Given the description of an element on the screen output the (x, y) to click on. 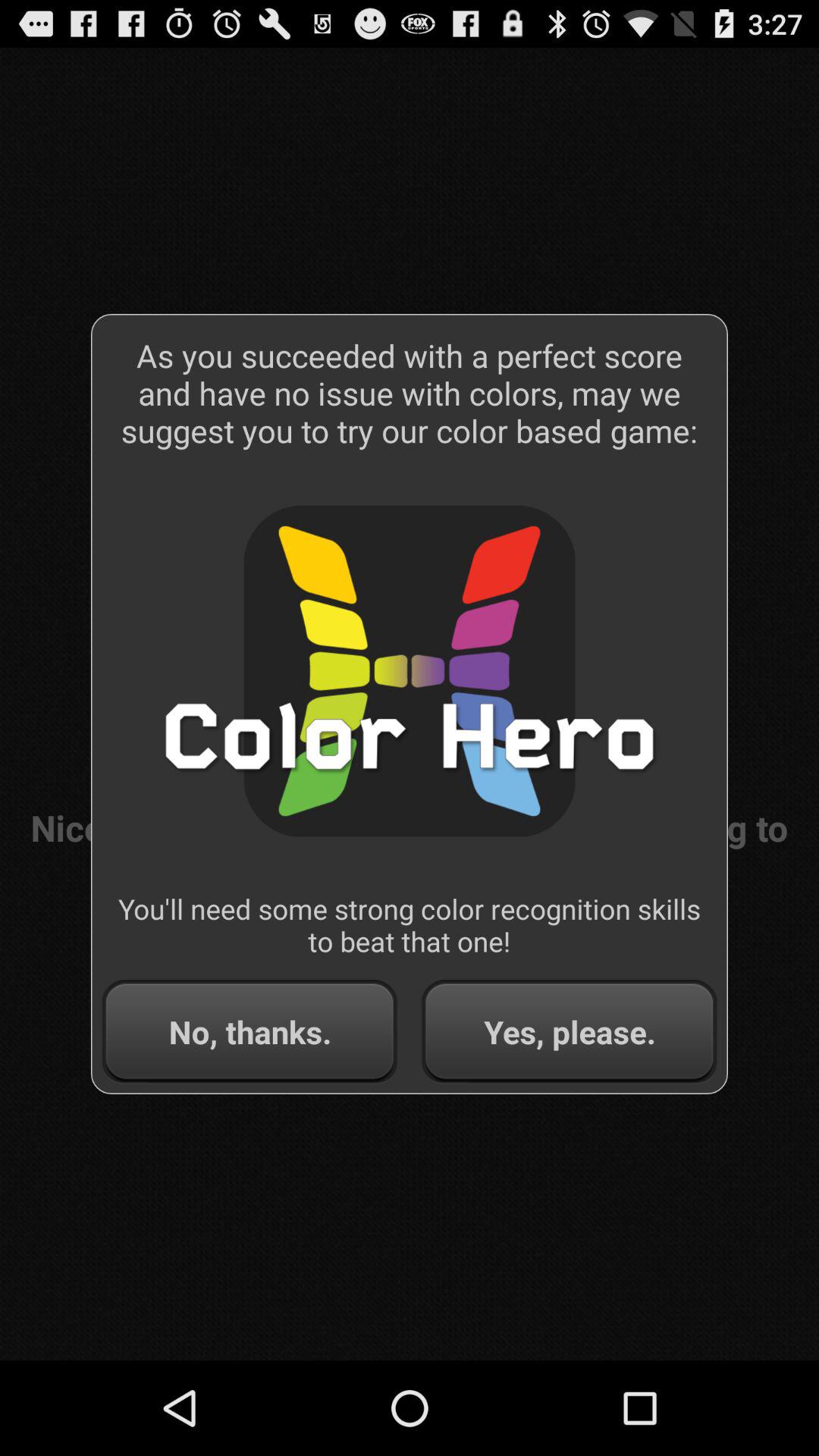
turn off the item to the right of no, thanks. button (568, 1031)
